Given the description of an element on the screen output the (x, y) to click on. 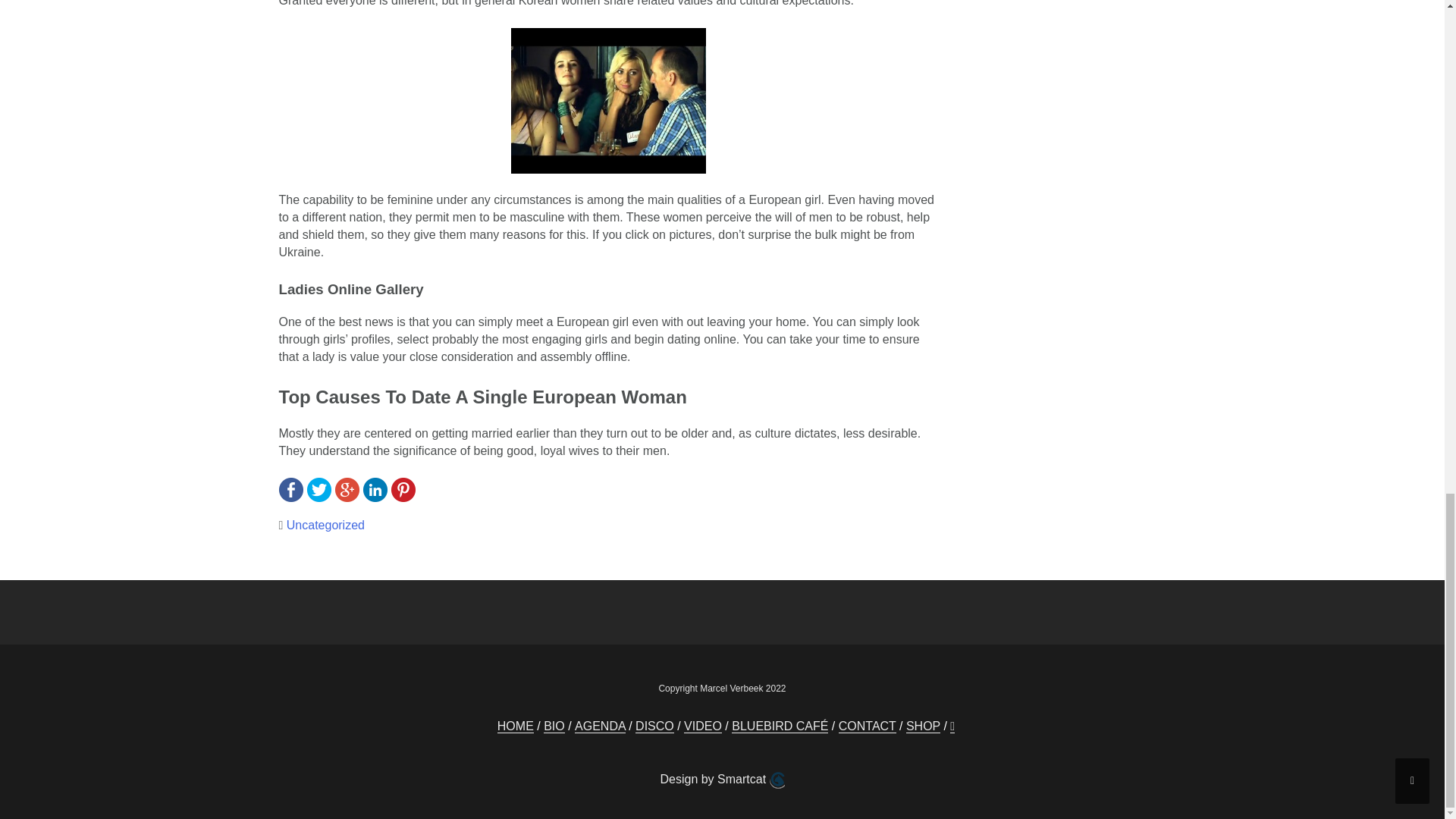
Uncategorized (325, 524)
HOME (515, 726)
BIO (553, 726)
